Given the description of an element on the screen output the (x, y) to click on. 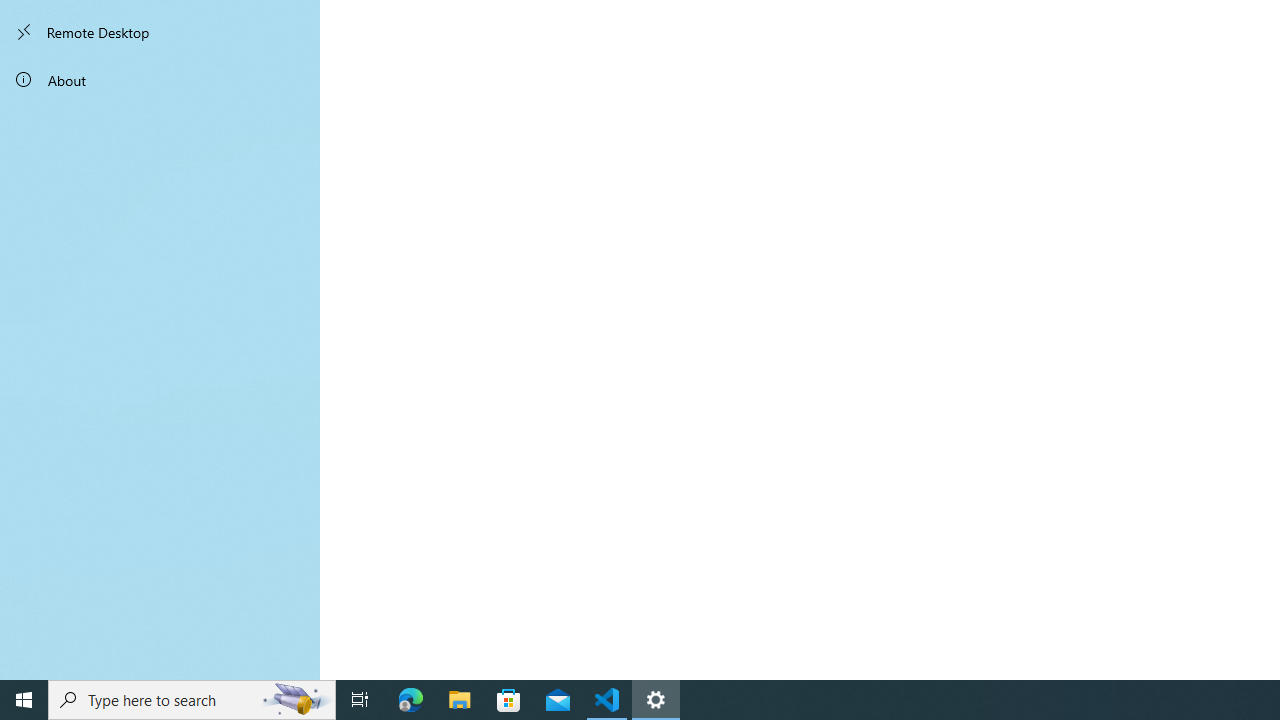
About (160, 79)
Remote Desktop (160, 31)
